Given the description of an element on the screen output the (x, y) to click on. 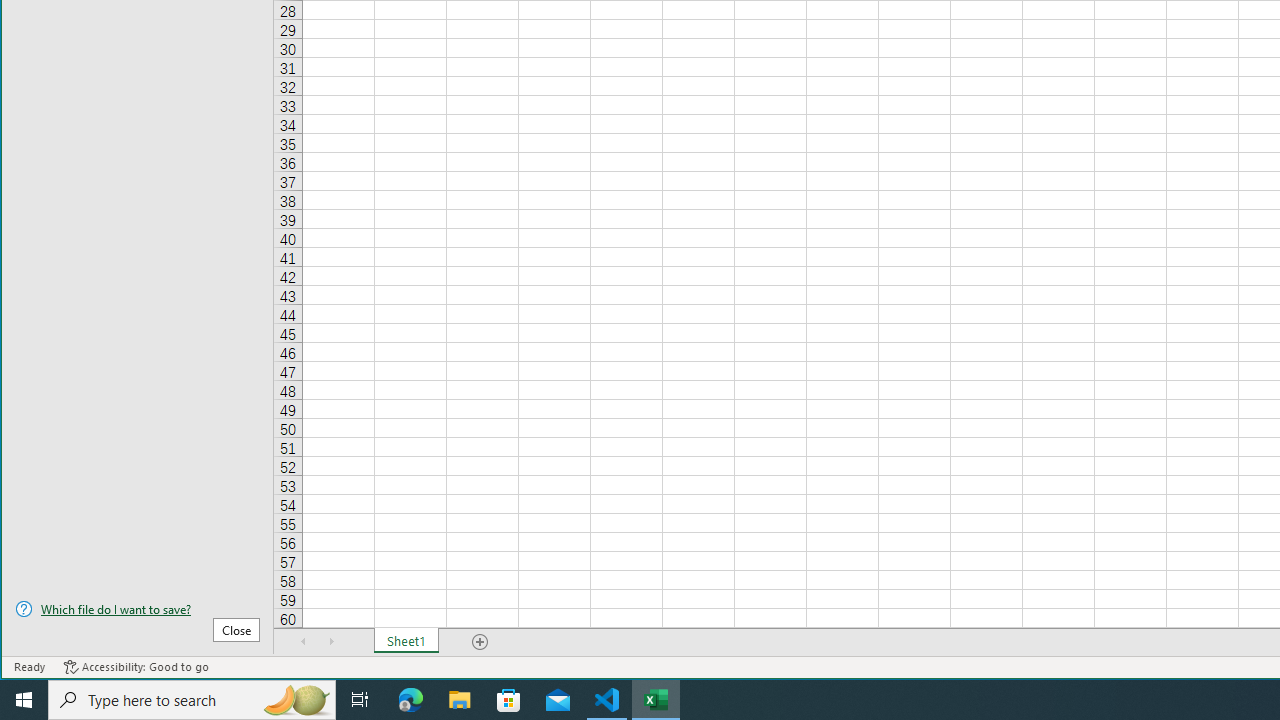
File Explorer (460, 699)
